Given the description of an element on the screen output the (x, y) to click on. 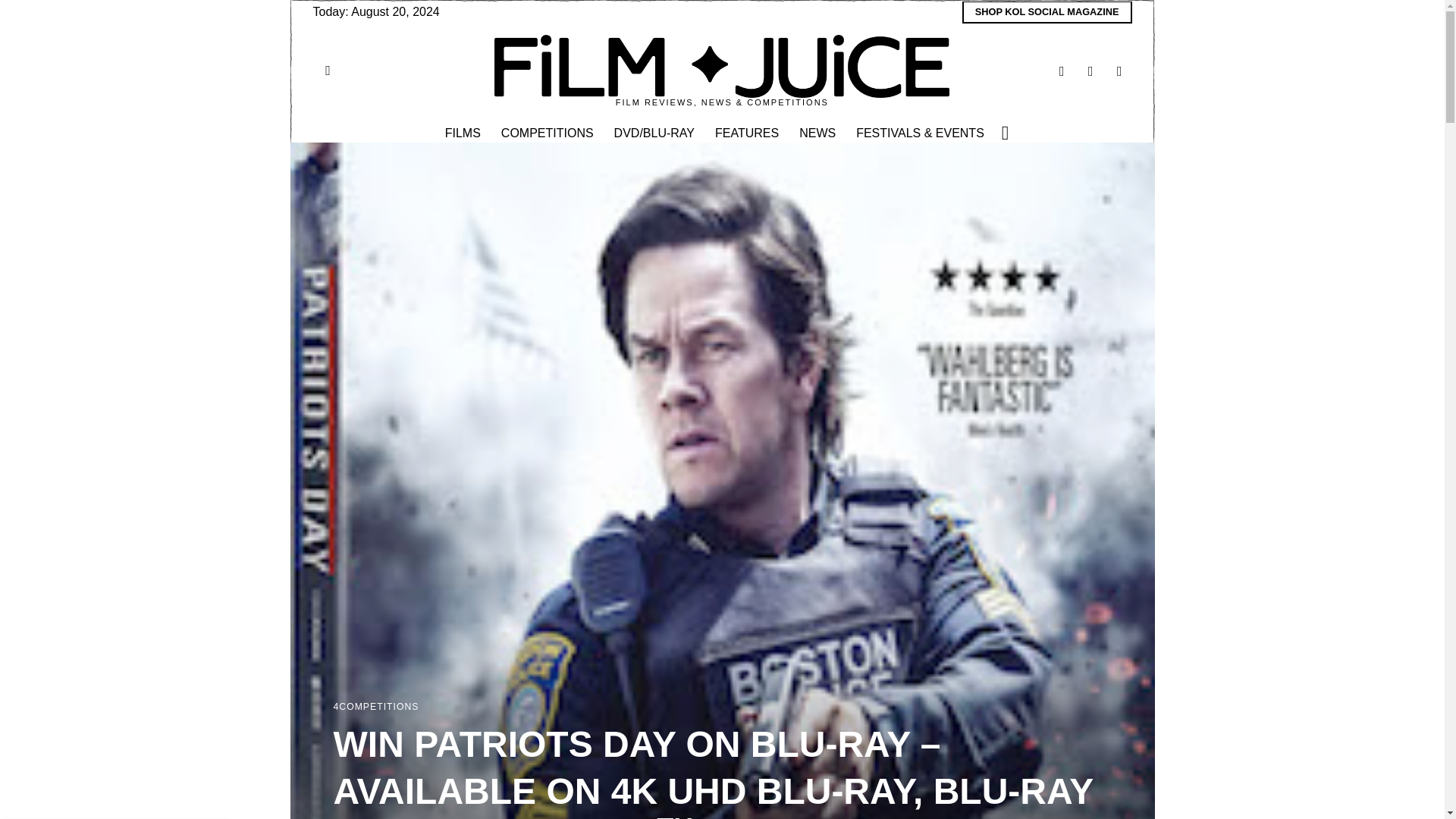
SHOP KOL SOCIAL MAGAZINE (1047, 11)
FEATURES (748, 132)
4COMPETITIONS (376, 707)
COMPETITIONS (548, 132)
FILMS (463, 132)
NEWS (818, 132)
